Given the description of an element on the screen output the (x, y) to click on. 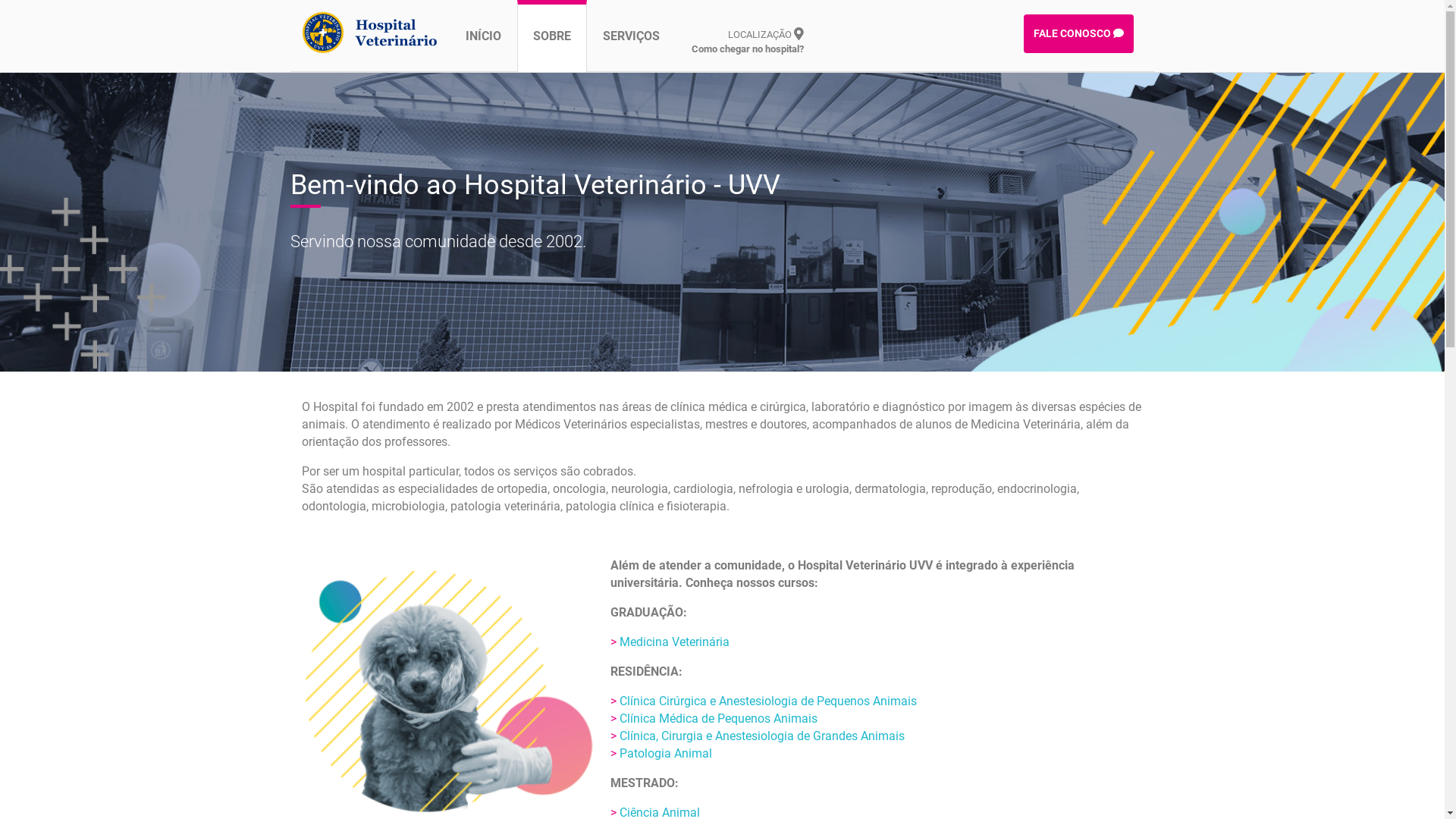
Patologia Animal Element type: text (664, 753)
SOBRE Element type: text (551, 36)
FALE CONOSCO Element type: text (1078, 33)
